Given the description of an element on the screen output the (x, y) to click on. 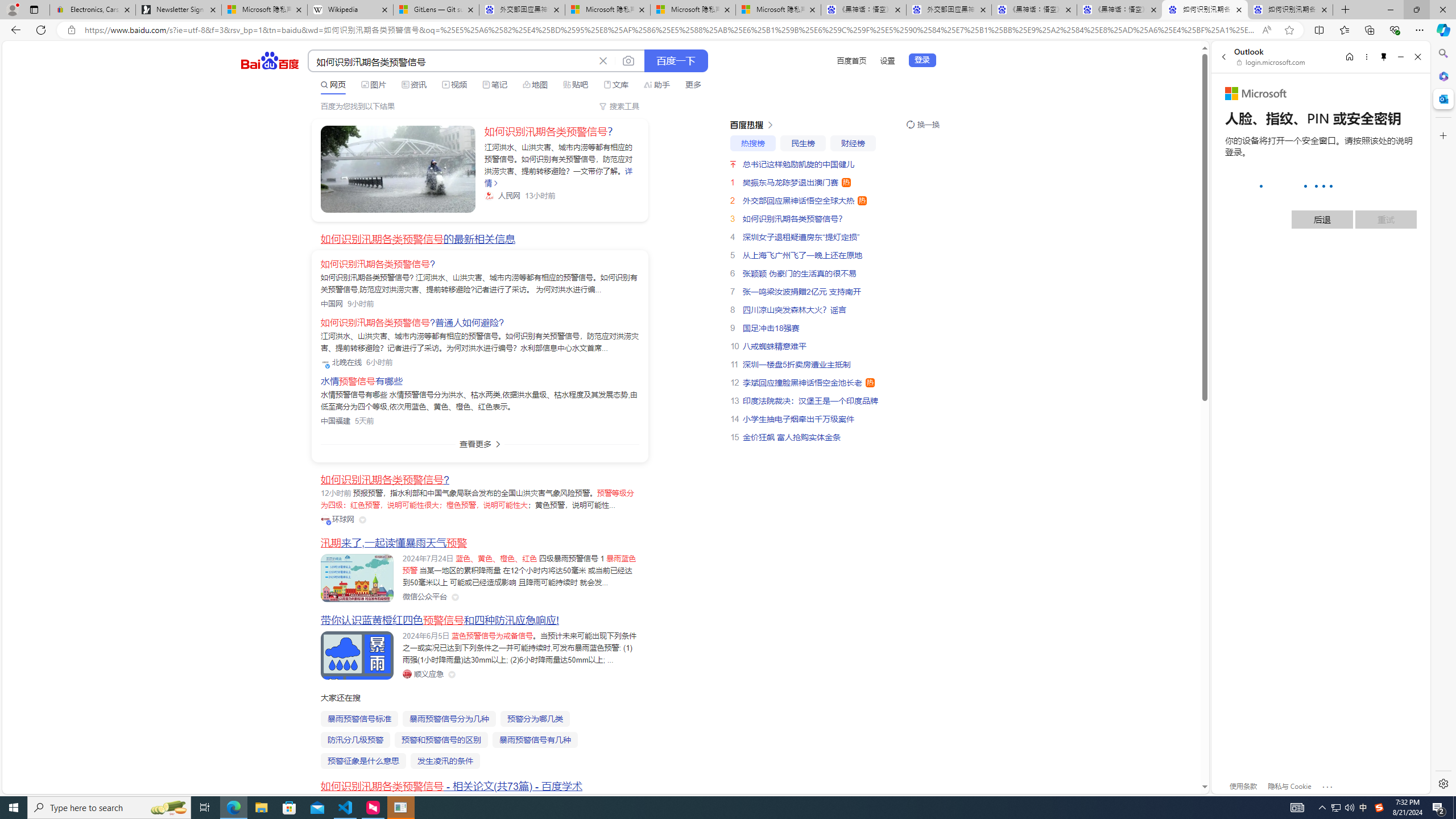
Class: vip-icon_kNmNt (328, 522)
